Given the description of an element on the screen output the (x, y) to click on. 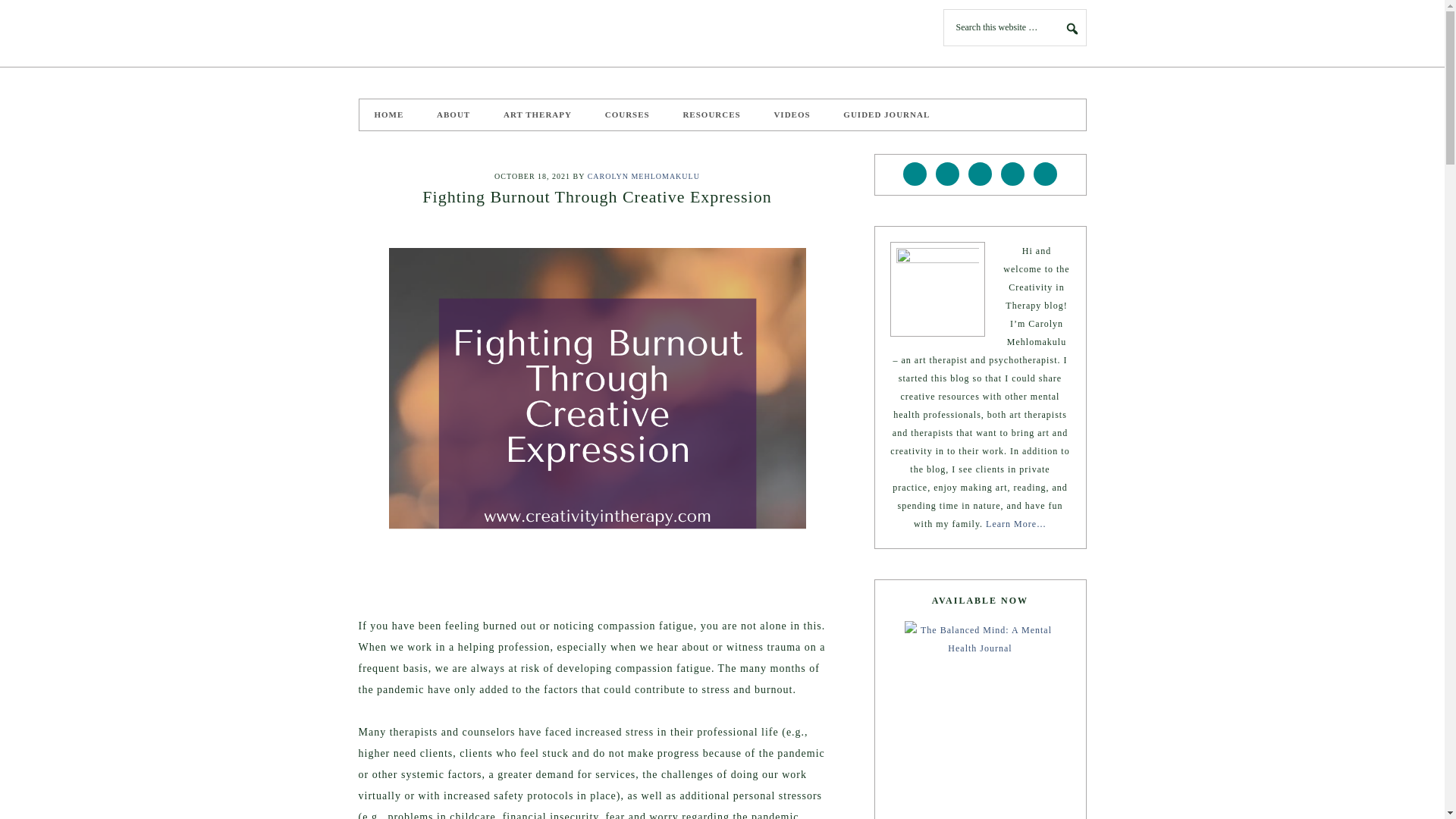
HOME (389, 114)
CREATIVITY IN THERAPY (471, 32)
ABOUT (453, 114)
CAROLYN MEHLOMAKULU (644, 175)
RESOURCES (710, 114)
GUIDED JOURNAL (886, 114)
VIDEOS (791, 114)
The Balanced Mind: A Mental Health Journal (979, 719)
COURSES (627, 114)
ART THERAPY (536, 114)
